Given the description of an element on the screen output the (x, y) to click on. 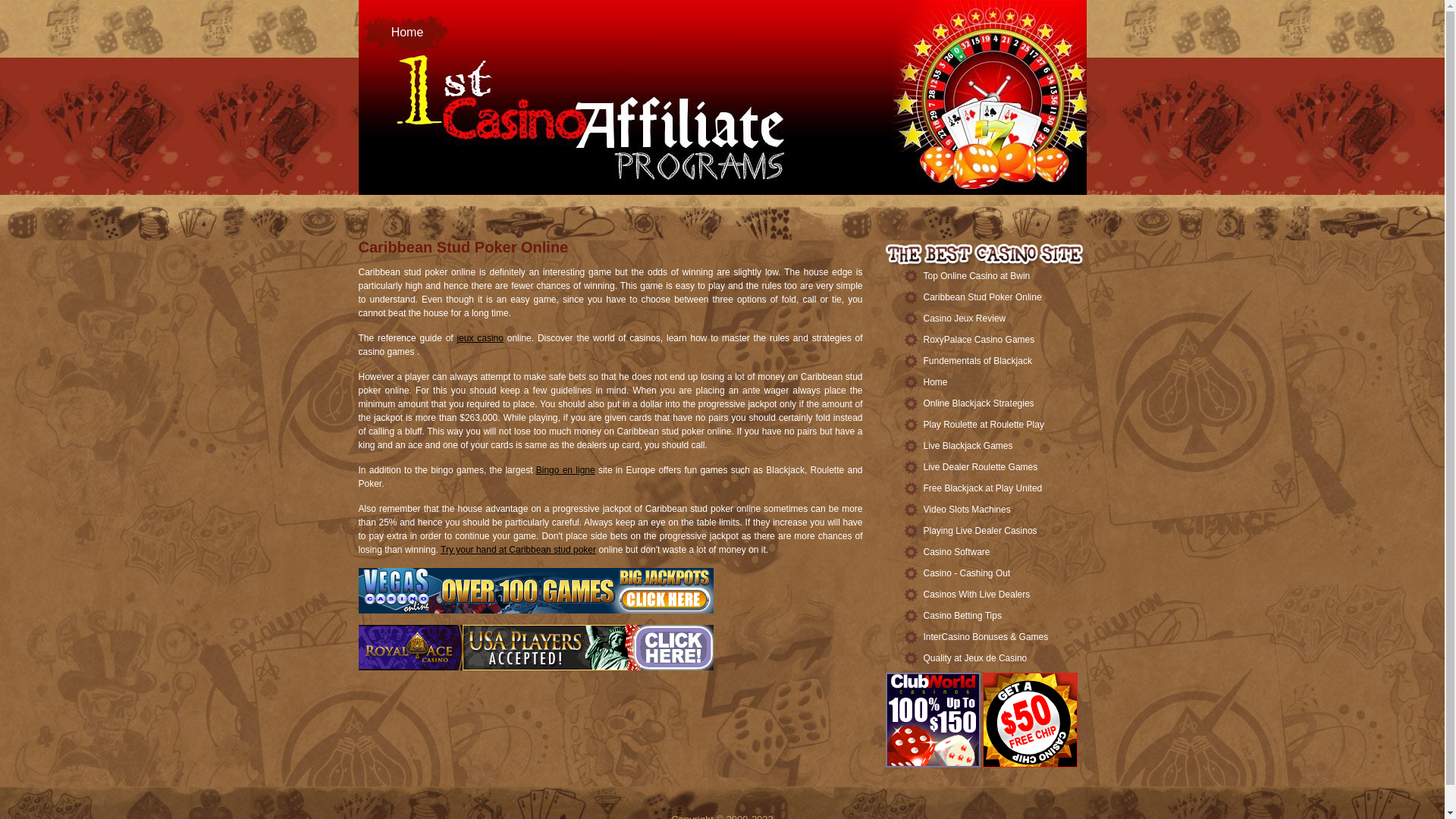
Try your hand at Caribbean stud poker Element type: text (518, 549)
Home Element type: text (935, 381)
Free Blackjack at Play United Element type: text (982, 488)
Video Slots Machines Element type: text (966, 509)
Casino Jeux Review Element type: text (964, 318)
Quality at Jeux de Casino Element type: text (975, 657)
Live Dealer Roulette Games Element type: text (980, 466)
RoxyPalace Casino Games Element type: text (979, 339)
Online Blackjack Strategies Element type: text (978, 403)
jeux casino Element type: text (479, 337)
Playing Live Dealer Casinos Element type: text (980, 530)
Casinos With Live Dealers Element type: text (976, 594)
Top Online Casino at Bwin Element type: text (976, 275)
Bingo en ligne Element type: text (565, 469)
InterCasino Bonuses & Games Element type: text (985, 636)
Casino - Cashing Out Element type: text (966, 572)
Play Roulette at Roulette Play Element type: text (983, 424)
Live Blackjack Games Element type: text (968, 445)
Caribbean Stud Poker Online Element type: text (982, 296)
Casino Software Element type: text (956, 551)
Home Element type: text (402, 33)
Casino Betting Tips Element type: text (962, 615)
Fundementals of Blackjack Element type: text (977, 360)
